Given the description of an element on the screen output the (x, y) to click on. 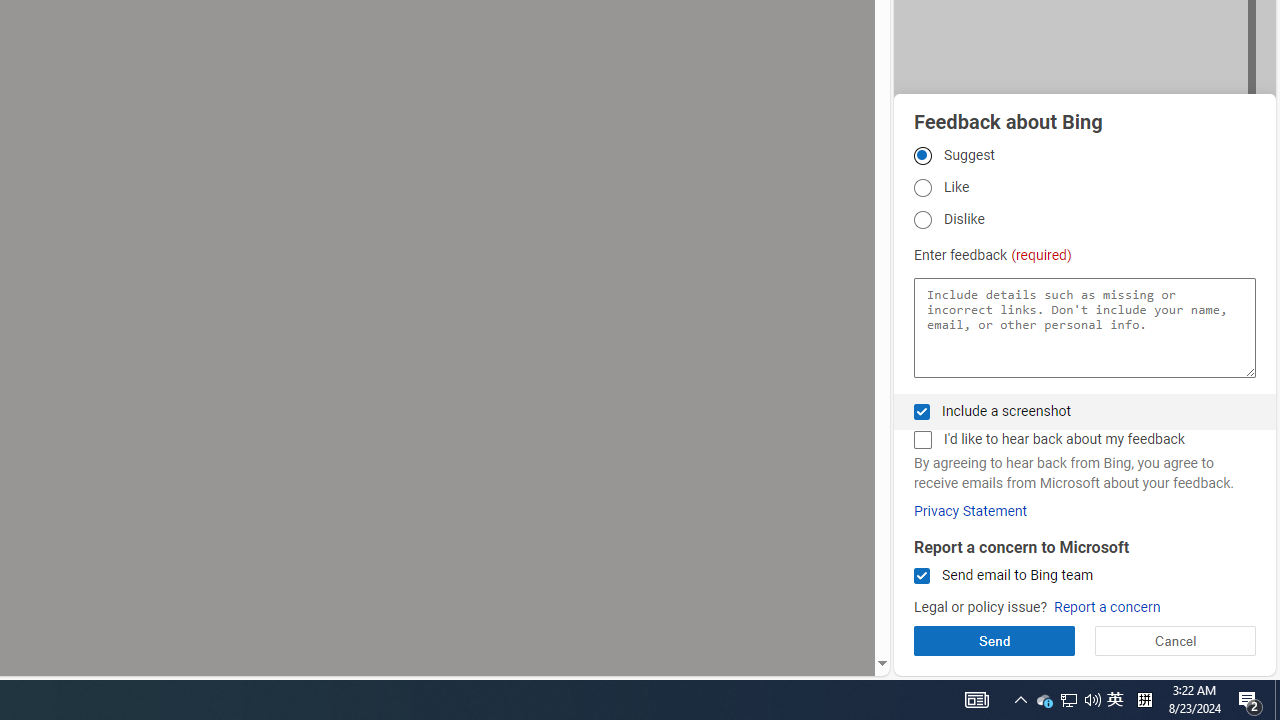
Like (922, 188)
I'd like to hear back about my feedback (922, 440)
Send email to Bing team (921, 575)
Privacy Statement (970, 511)
Send (994, 640)
Include a screenshot (921, 411)
Cancel (1174, 640)
Report a concern (1106, 607)
Suggest (922, 155)
